Given the description of an element on the screen output the (x, y) to click on. 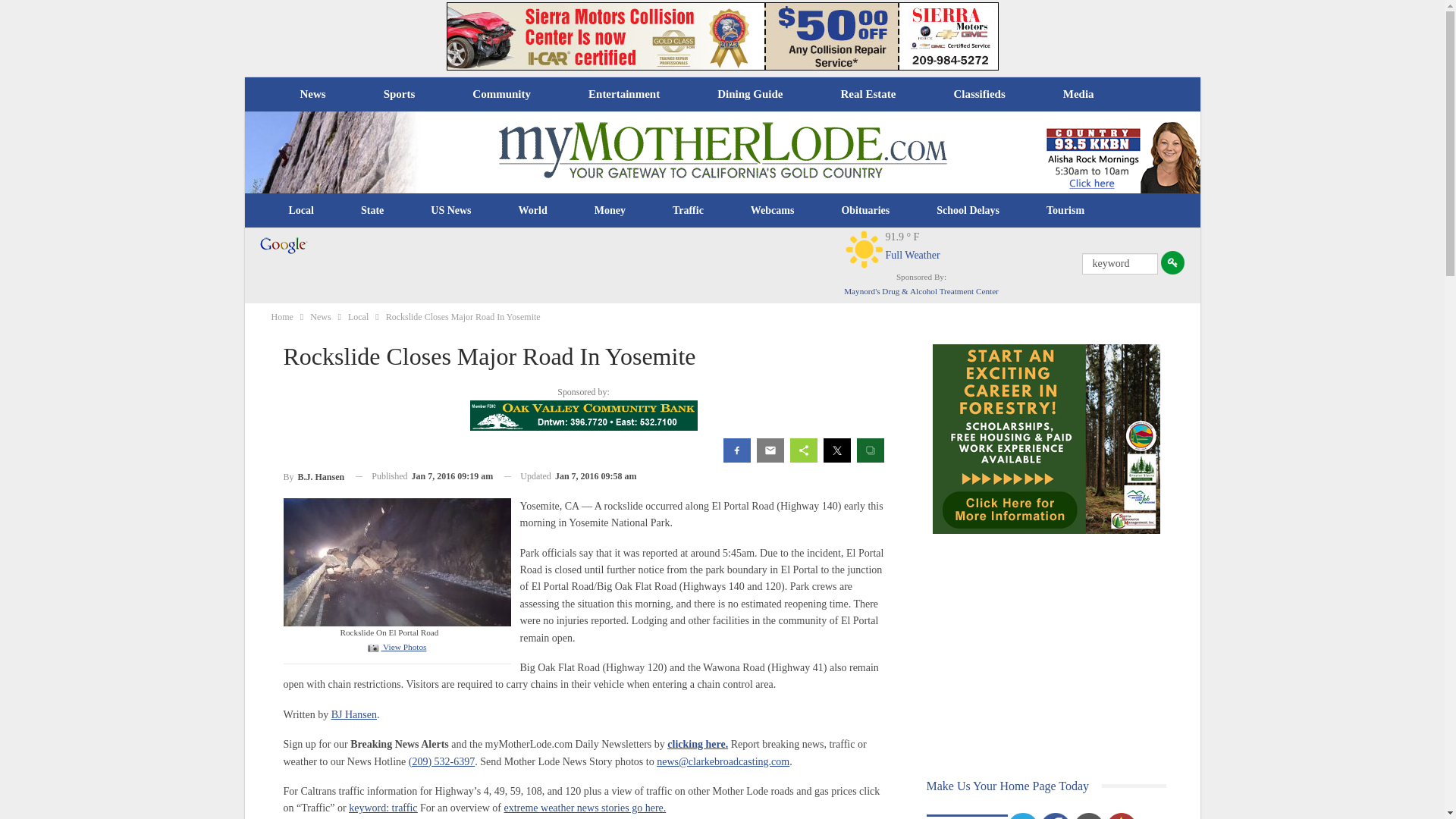
NPS Image (397, 560)
Sports (399, 93)
Money (609, 210)
State (372, 210)
Sierra Motors Collision Center (721, 36)
Tourism (1065, 210)
Browse Author Articles (314, 476)
keyword (1119, 263)
Community (501, 93)
Traffic (687, 210)
School Delays (967, 210)
Oak Valley Community Bank (583, 415)
